Given the description of an element on the screen output the (x, y) to click on. 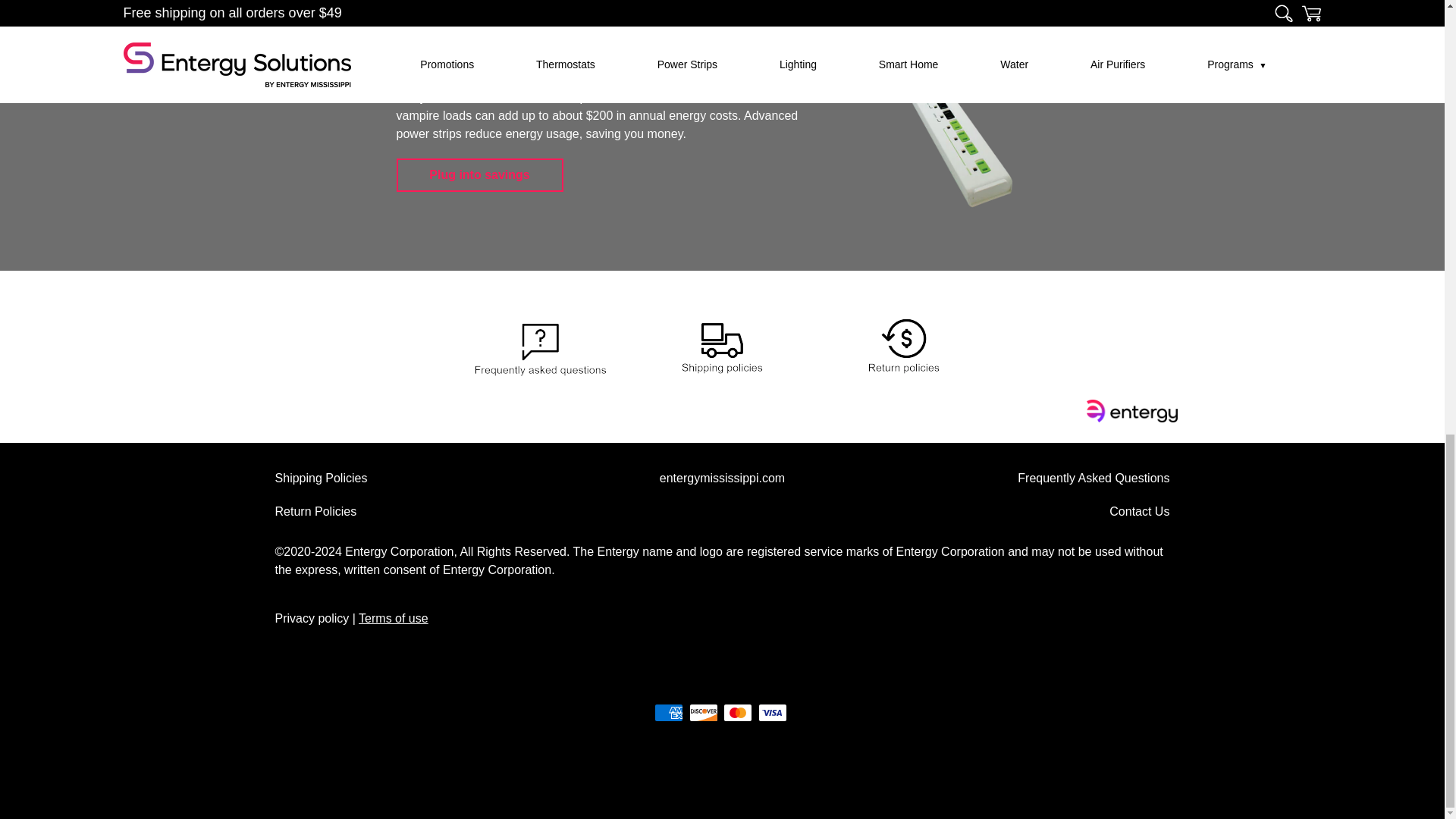
Discover (702, 712)
American Express (667, 712)
Return Policies (315, 511)
Shipping Policies (321, 477)
Plug into savings (479, 174)
Mastercard (737, 712)
Visa (772, 712)
